Given the description of an element on the screen output the (x, y) to click on. 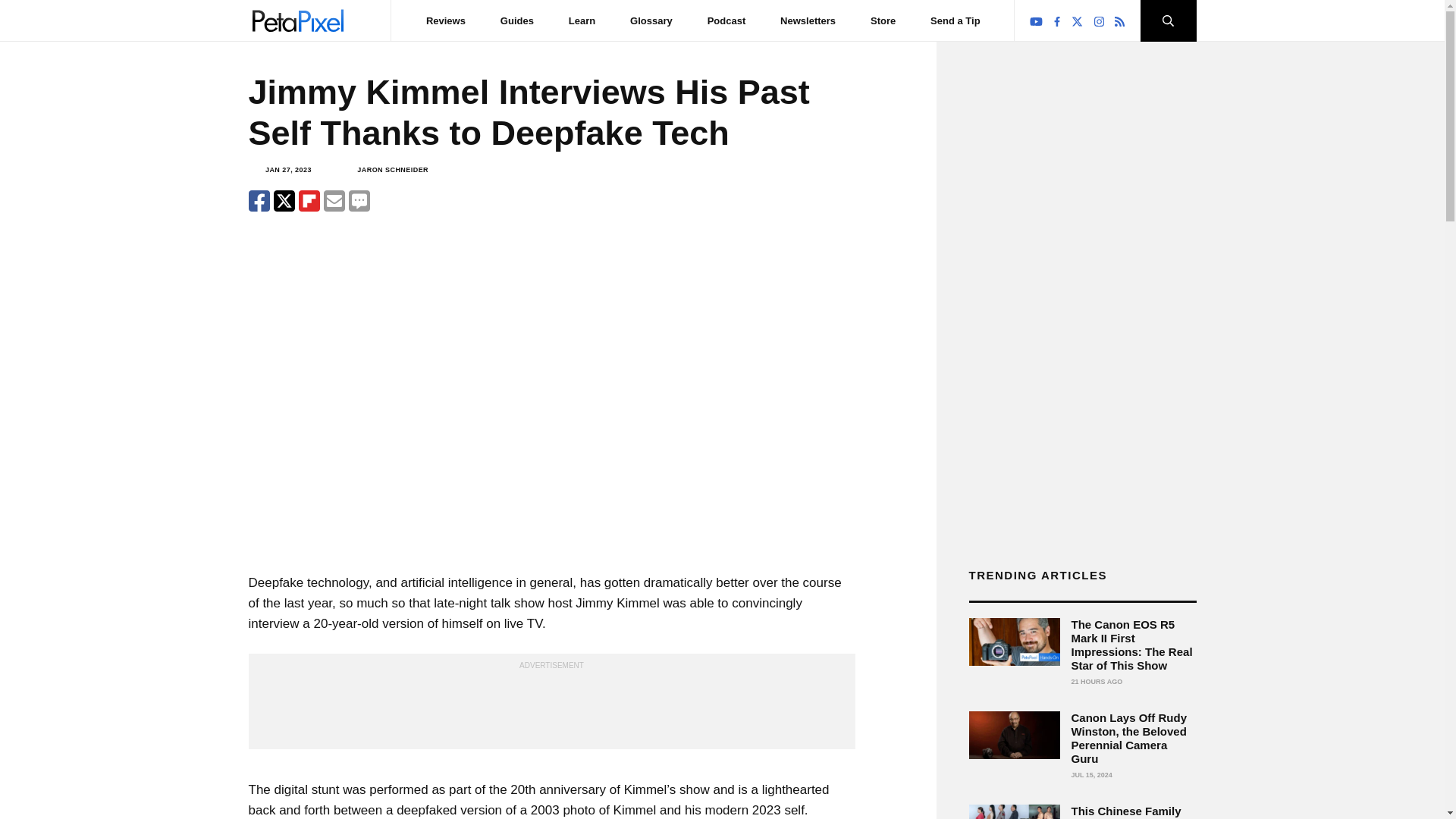
JARON SCHNEIDER (392, 169)
Newsletters (807, 20)
PetaPixel (296, 20)
Share on X (283, 200)
Store (882, 20)
Podcast (726, 20)
Learn (582, 20)
Follow PetaPixel on X (1077, 21)
Follow PetaPixel on YouTube (1035, 21)
Comments (359, 200)
PetaPixel (296, 20)
Guides (517, 20)
Email this article (333, 200)
Share on Flipboard (309, 200)
